Given the description of an element on the screen output the (x, y) to click on. 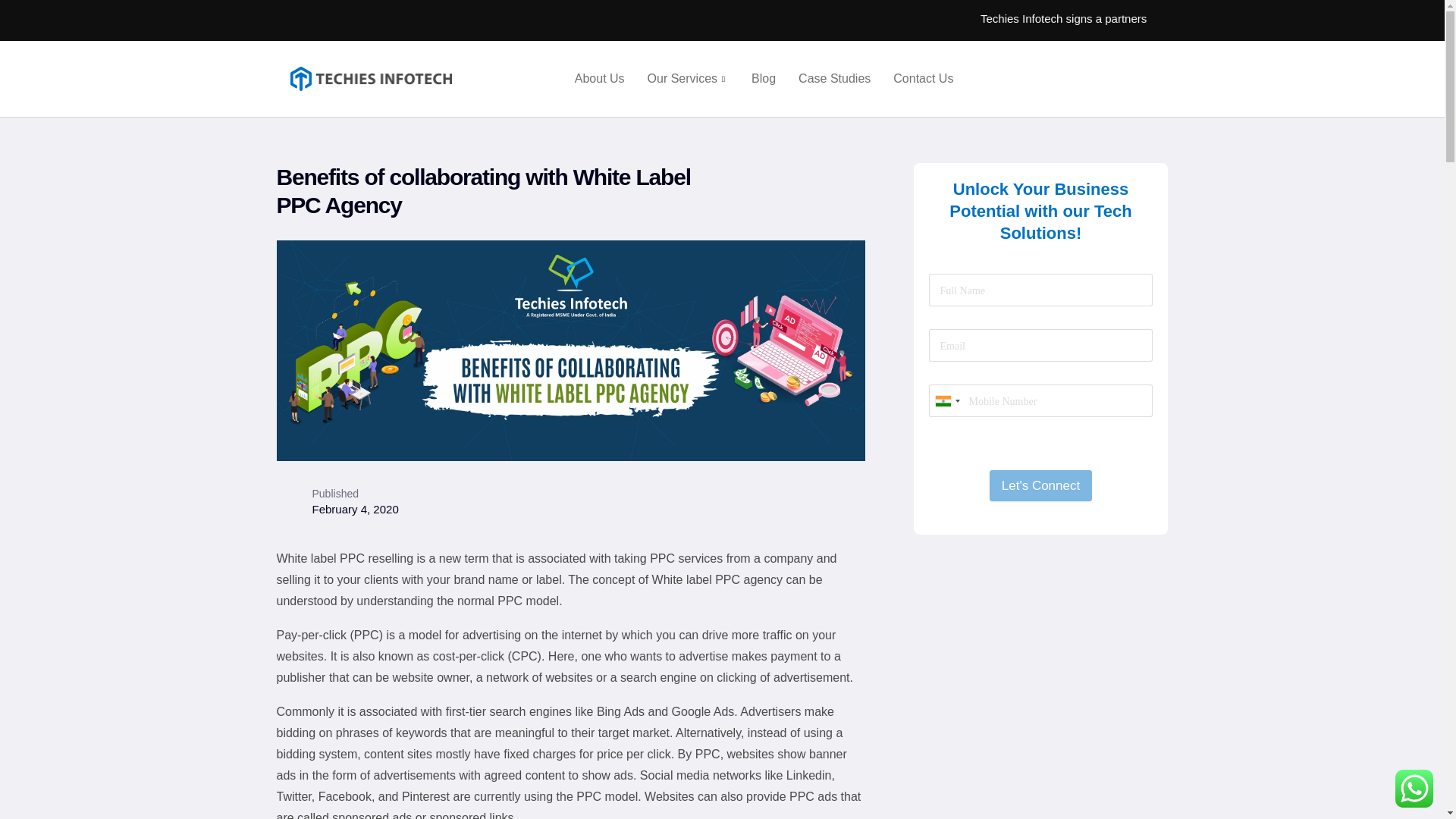
About Us (599, 78)
Our Services (688, 78)
